Given the description of an element on the screen output the (x, y) to click on. 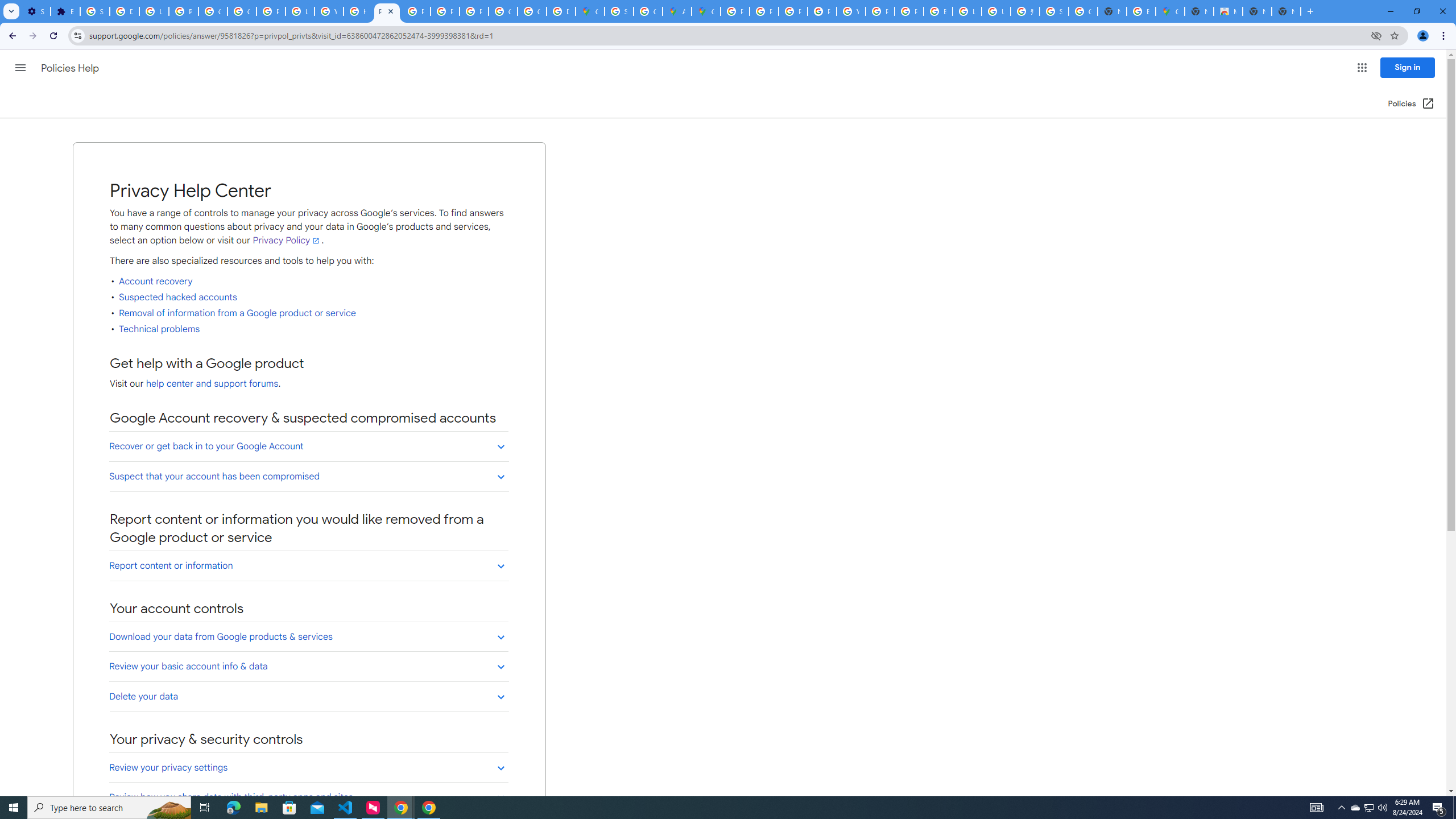
Privacy Help Center - Policies Help (386, 11)
Google Maps (1169, 11)
Review your privacy settings (308, 767)
Delete your data (308, 696)
Account recovery (155, 281)
Removal of information from a Google product or service (237, 313)
Review how you share data with third-party apps and sites (308, 797)
Sign in - Google Accounts (95, 11)
Privacy Help Center - Policies Help (763, 11)
